Given the description of an element on the screen output the (x, y) to click on. 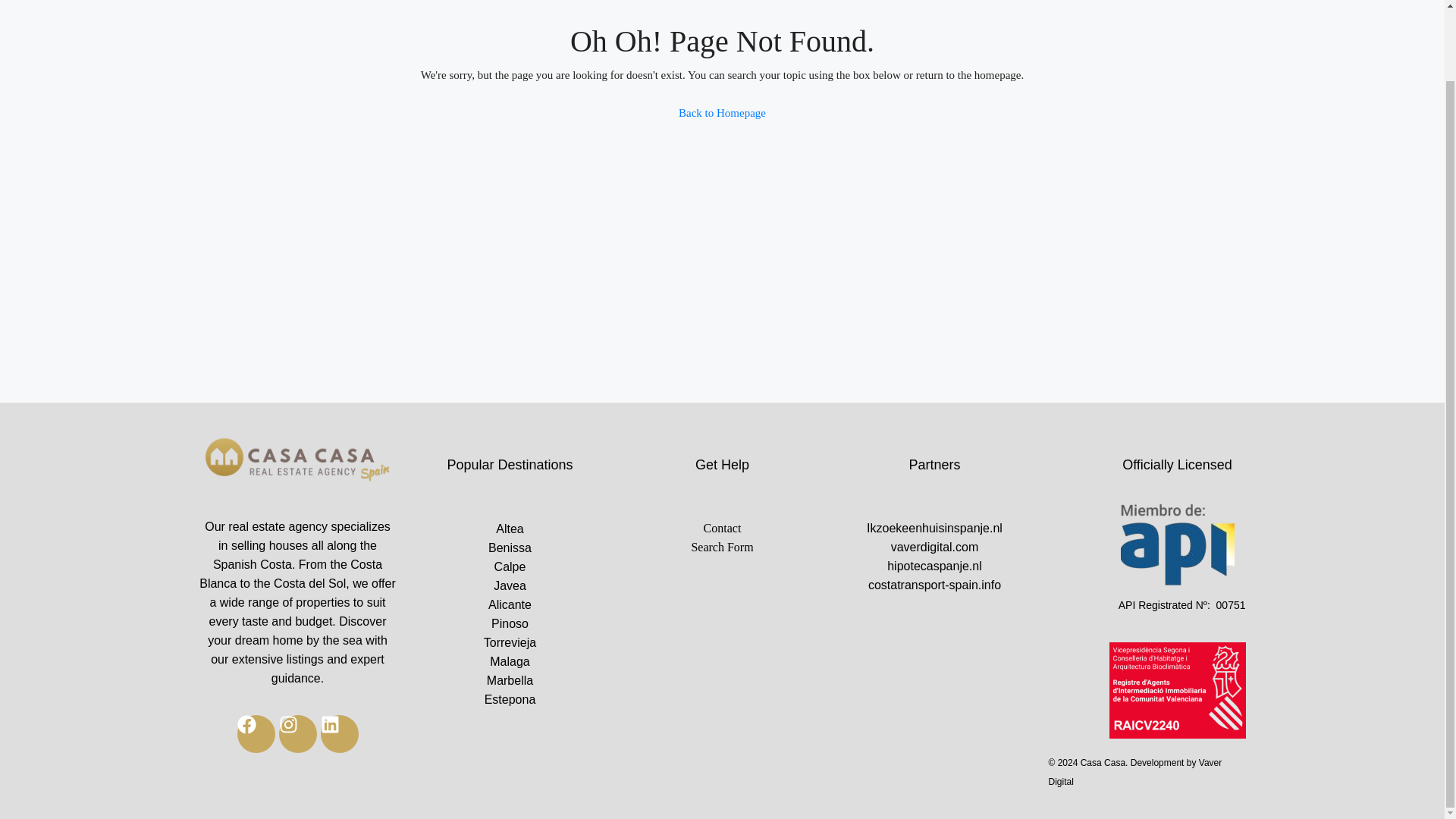
Contact (722, 527)
Ikzoekeenhuisinspanje.nl (933, 527)
Altea (509, 528)
Malaga (509, 660)
vaverdigital.com (933, 546)
Calpe (509, 566)
Alicante (509, 604)
Torrevieja (509, 642)
hipotecaspanje.nl (933, 565)
Benissa (509, 547)
CASA CASA REAL ESTATE TRANSPA (297, 461)
Back to Homepage (721, 112)
Estepona (509, 699)
Search Form (722, 546)
Pinoso (509, 623)
